Given the description of an element on the screen output the (x, y) to click on. 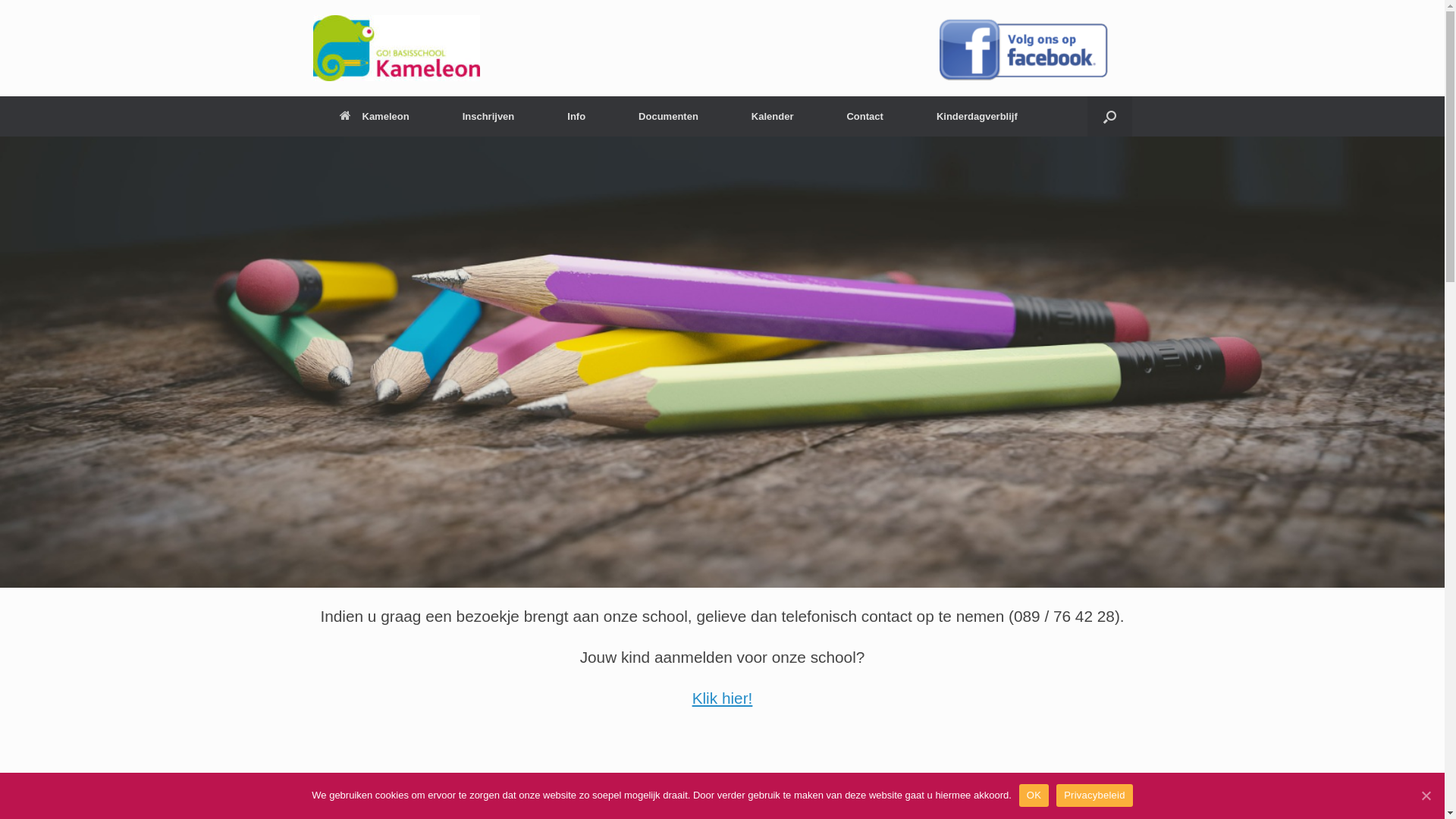
Privacybeleid Element type: text (1094, 795)
Kalender Element type: text (772, 116)
Info Element type: text (575, 116)
Inschrijven Element type: text (488, 116)
Contact Element type: text (864, 116)
Volgende Element type: hover (1124, 789)
Kinderdagverblijf Element type: text (977, 116)
Klik hier! Element type: text (722, 697)
Kameleon Element type: text (373, 116)
Spring naar inhoud Element type: text (0, 0)
Bs kameleon Element type: hover (395, 48)
Vorige Element type: hover (1109, 789)
OK Element type: text (1033, 795)
Documenten Element type: text (667, 116)
facebooklogo Element type: hover (1032, 48)
